Given the description of an element on the screen output the (x, y) to click on. 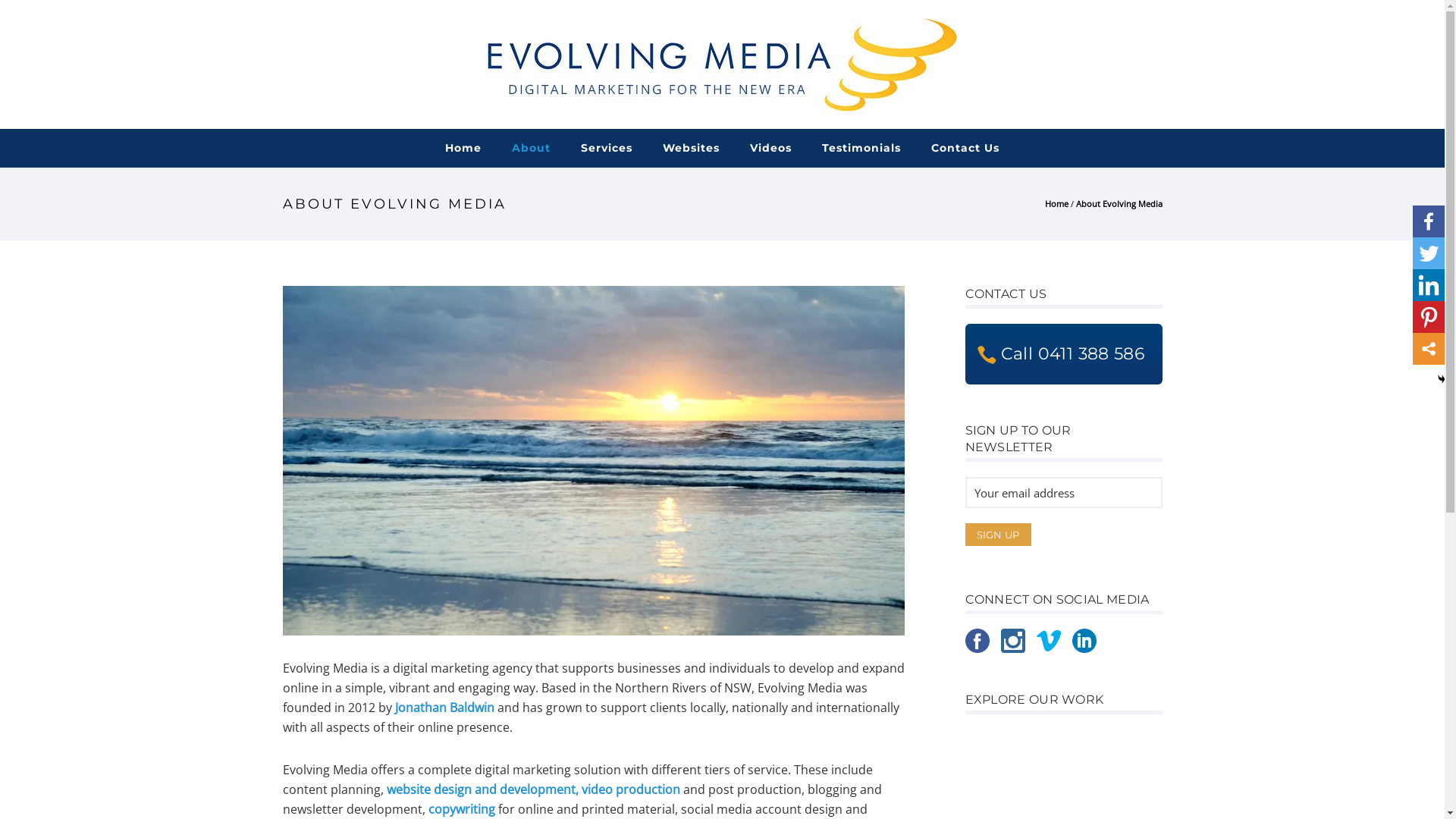
copywriting Element type: text (460, 808)
Websites Element type: text (690, 147)
Home Element type: text (1056, 203)
About Element type: text (530, 147)
Videos Element type: text (770, 147)
Testimonials Element type: text (861, 147)
Services Element type: text (606, 147)
Twitter Element type: hover (1428, 253)
More Element type: hover (1428, 348)
Hide Element type: hover (1441, 379)
Jonathan Baldwin Element type: text (443, 707)
Linkedin Element type: hover (1428, 285)
Pinterest Element type: hover (1428, 316)
Home Element type: text (462, 147)
About Evolving Media Element type: text (1118, 203)
video production Element type: text (629, 789)
Sign up Element type: text (997, 534)
website design and development, Element type: text (482, 789)
Contact Us Element type: text (965, 147)
Facebook Element type: hover (1428, 221)
